Given the description of an element on the screen output the (x, y) to click on. 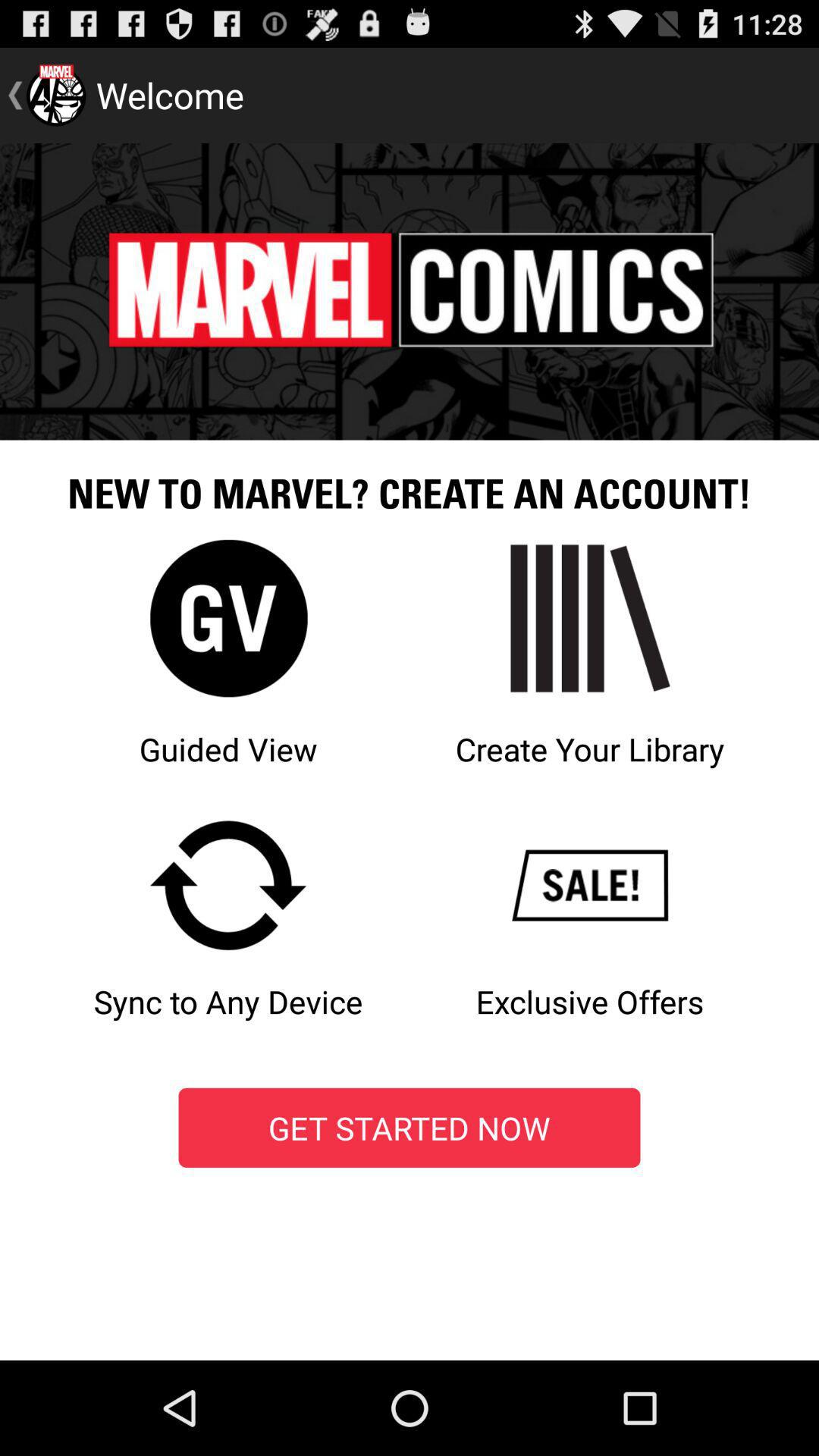
select the get started now icon (409, 1127)
